Given the description of an element on the screen output the (x, y) to click on. 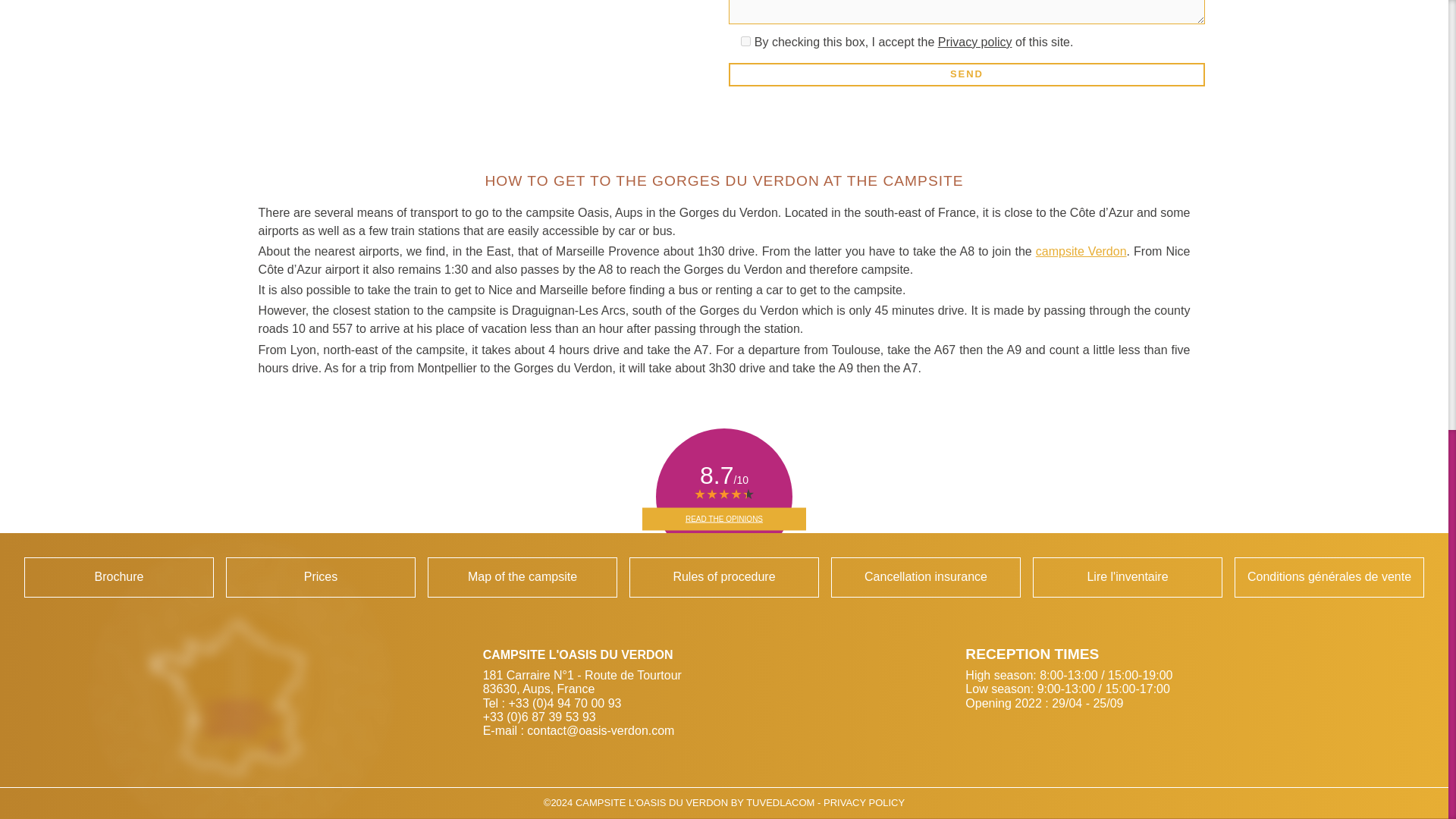
Brochure (119, 577)
Prices (319, 577)
Read the privacy policy (864, 802)
Read the opinions (724, 517)
Cancellation insurance (925, 577)
Go to the Tuvedlacom website (779, 802)
Send (966, 74)
Rules of procedure (723, 577)
Cancellation insurance (925, 577)
Rules of  procedure (723, 577)
Map of the campsite (522, 577)
Consult the rates (319, 577)
Lire l'inventaire (1127, 577)
Lire l'inventaire (1127, 577)
See the map of the campsite (522, 577)
